Given the description of an element on the screen output the (x, y) to click on. 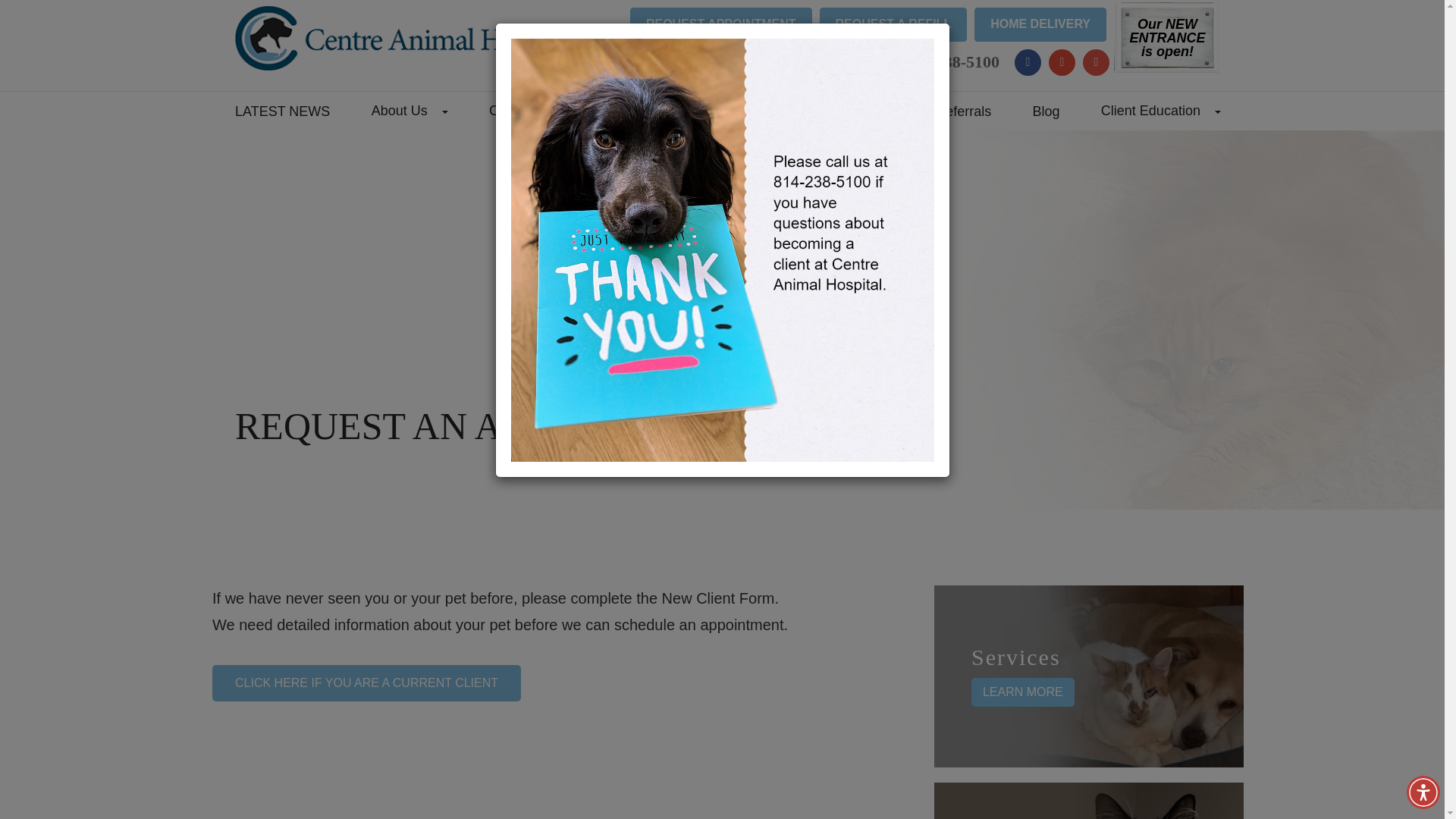
Accessibility Menu (1422, 792)
